Given the description of an element on the screen output the (x, y) to click on. 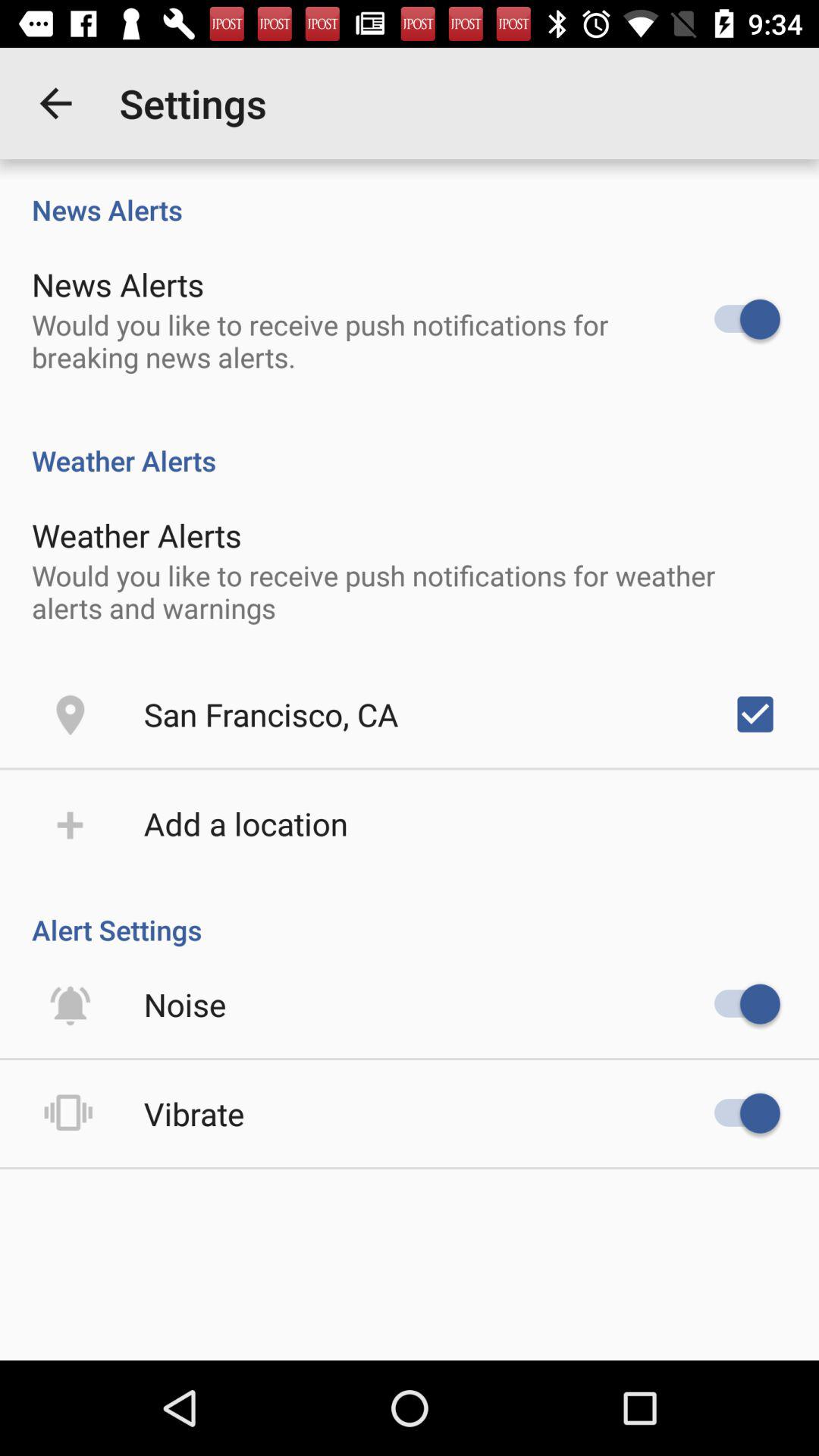
press alert settings item (409, 913)
